Given the description of an element on the screen output the (x, y) to click on. 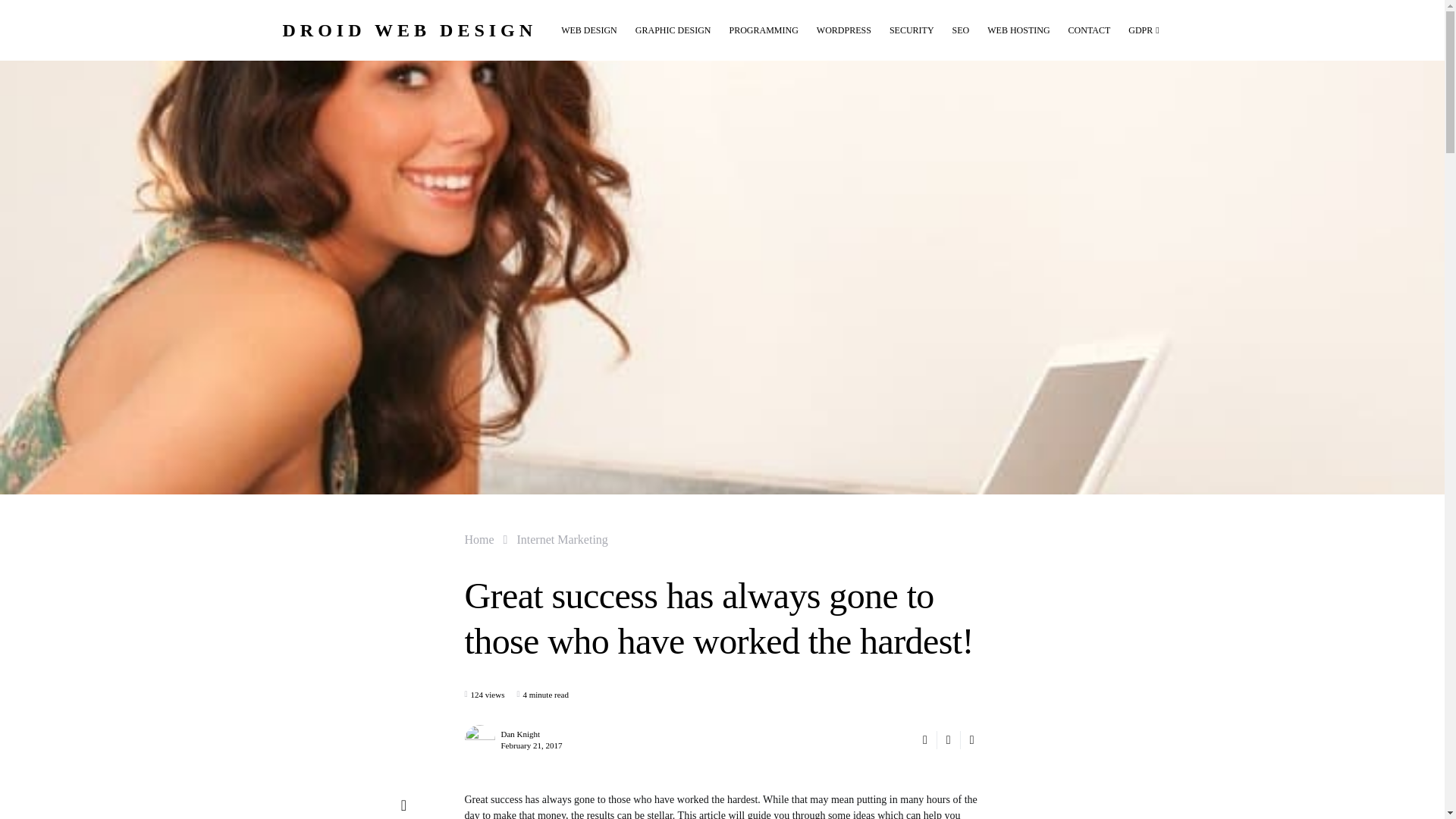
GRAPHIC DESIGN (673, 30)
Dan Knight (520, 733)
DROID WEB DESIGN (409, 29)
WEB DESIGN (593, 30)
SECURITY (911, 30)
WEB HOSTING (1018, 30)
PROGRAMMING (762, 30)
Internet Marketing (561, 538)
Home (478, 538)
WORDPRESS (844, 30)
CONTACT (1089, 30)
